Given the description of an element on the screen output the (x, y) to click on. 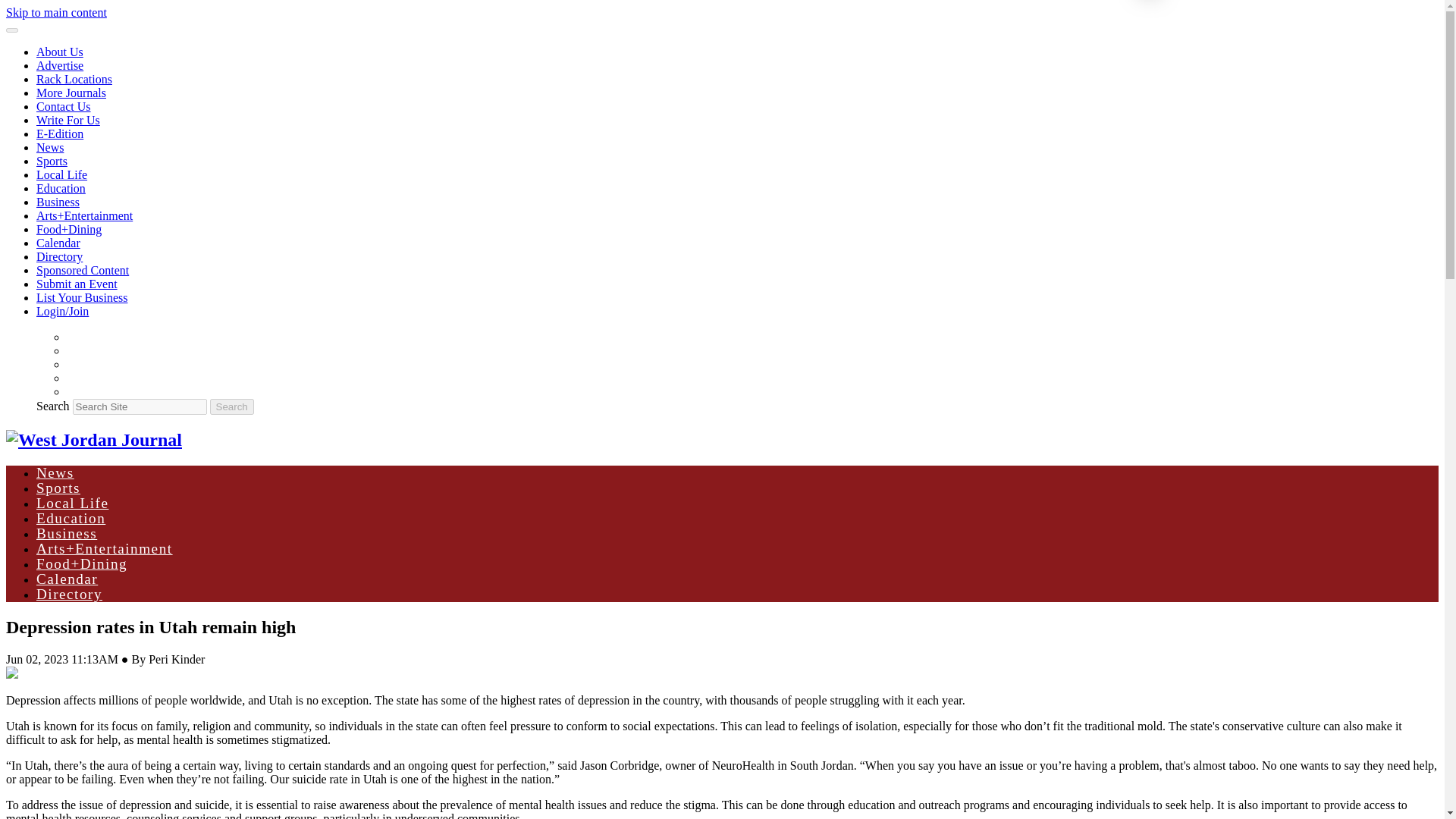
Business (66, 533)
Calendar (66, 578)
News (50, 146)
Write For Us (68, 119)
News (55, 472)
Advertise (59, 65)
More Journals (71, 92)
Sponsored Content (82, 269)
Rack Locations (74, 78)
About Us (59, 51)
